Given the description of an element on the screen output the (x, y) to click on. 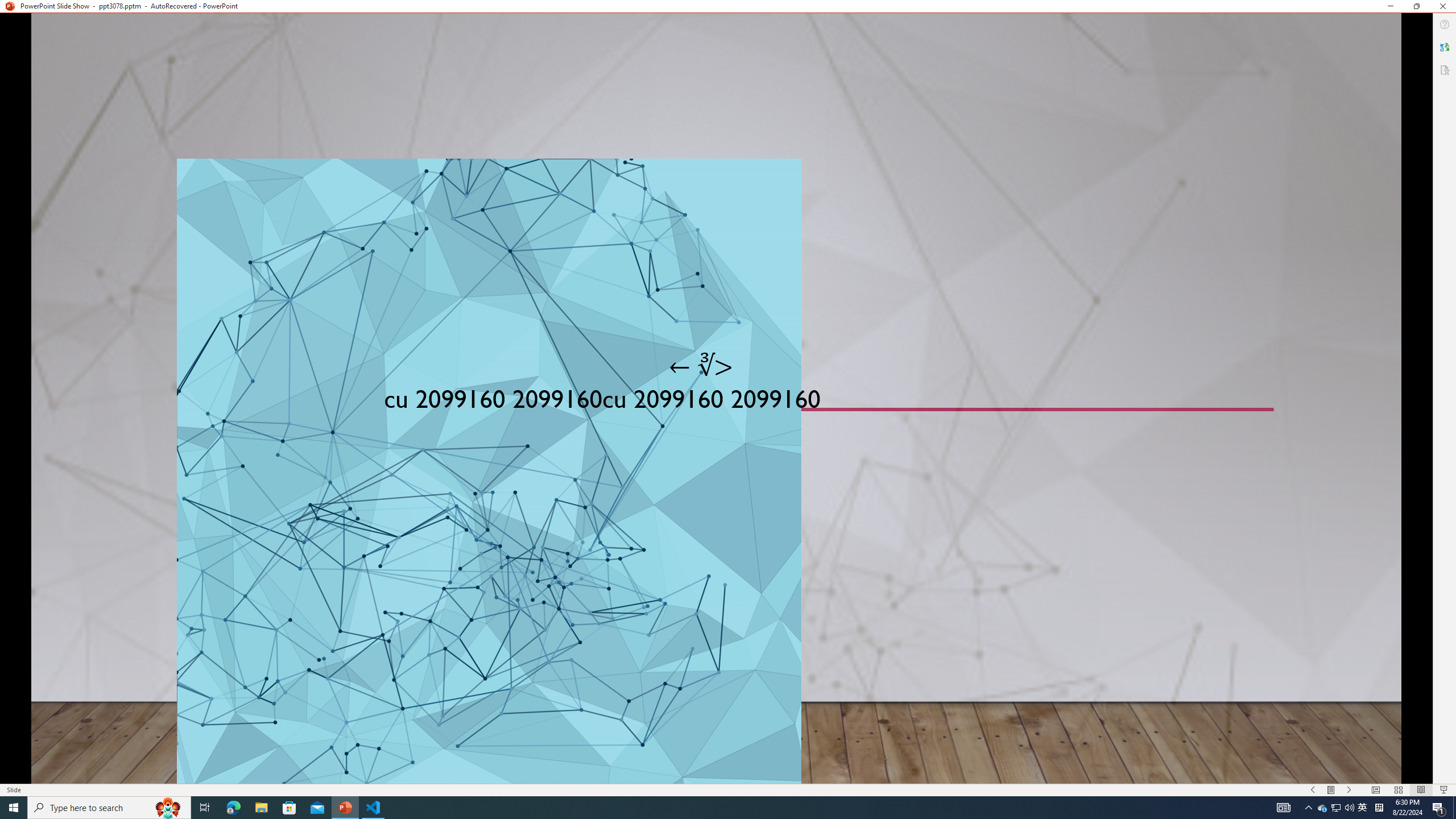
Menu On (1331, 790)
Slide Show Previous On (1313, 790)
Slide Show Next On (1349, 790)
